Given the description of an element on the screen output the (x, y) to click on. 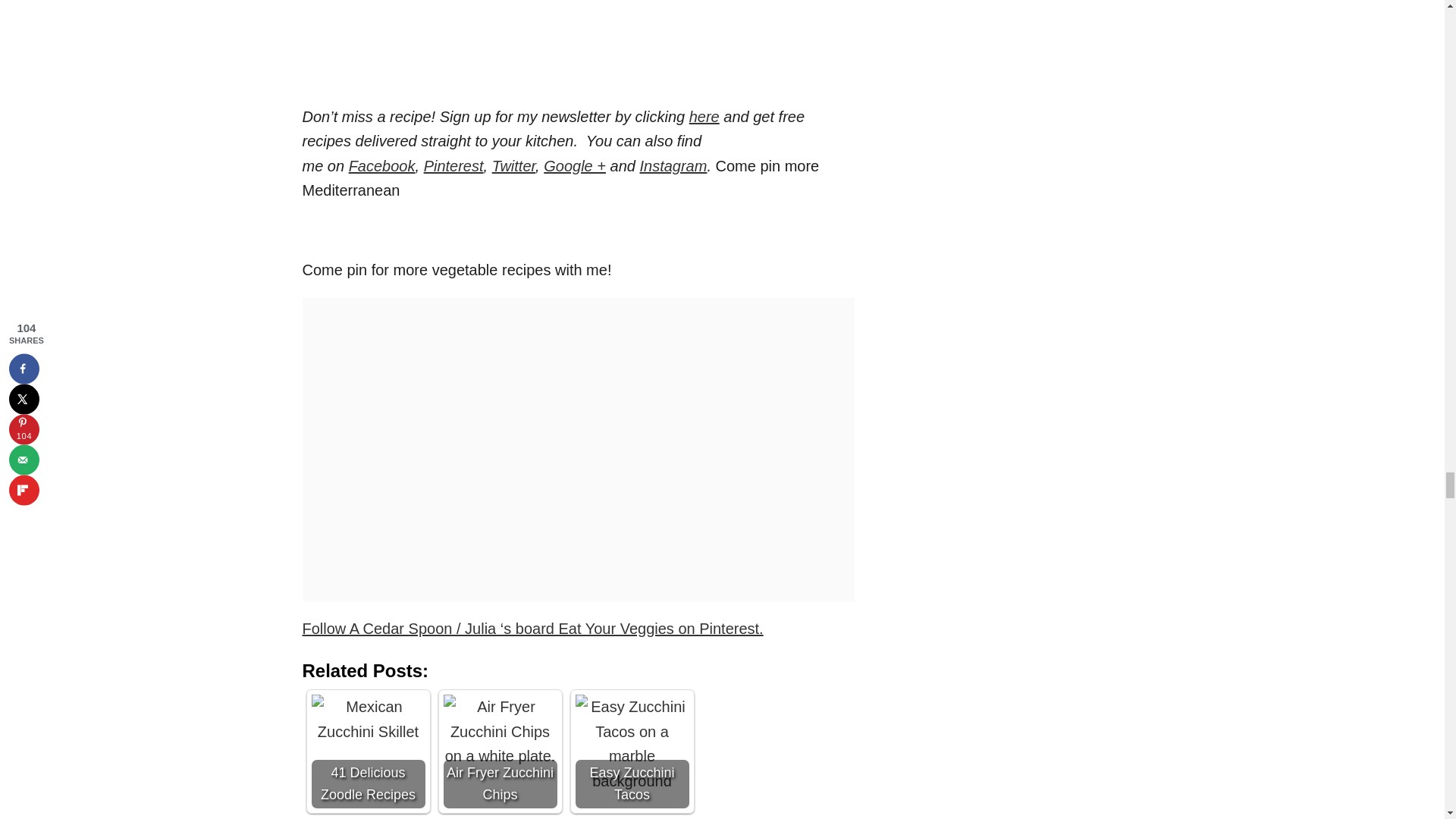
Air Fryer Zucchini Chips (499, 751)
Easy Zucchini Tacos (631, 751)
41 Delicious Zoodle Recipes (368, 751)
